Given the description of an element on the screen output the (x, y) to click on. 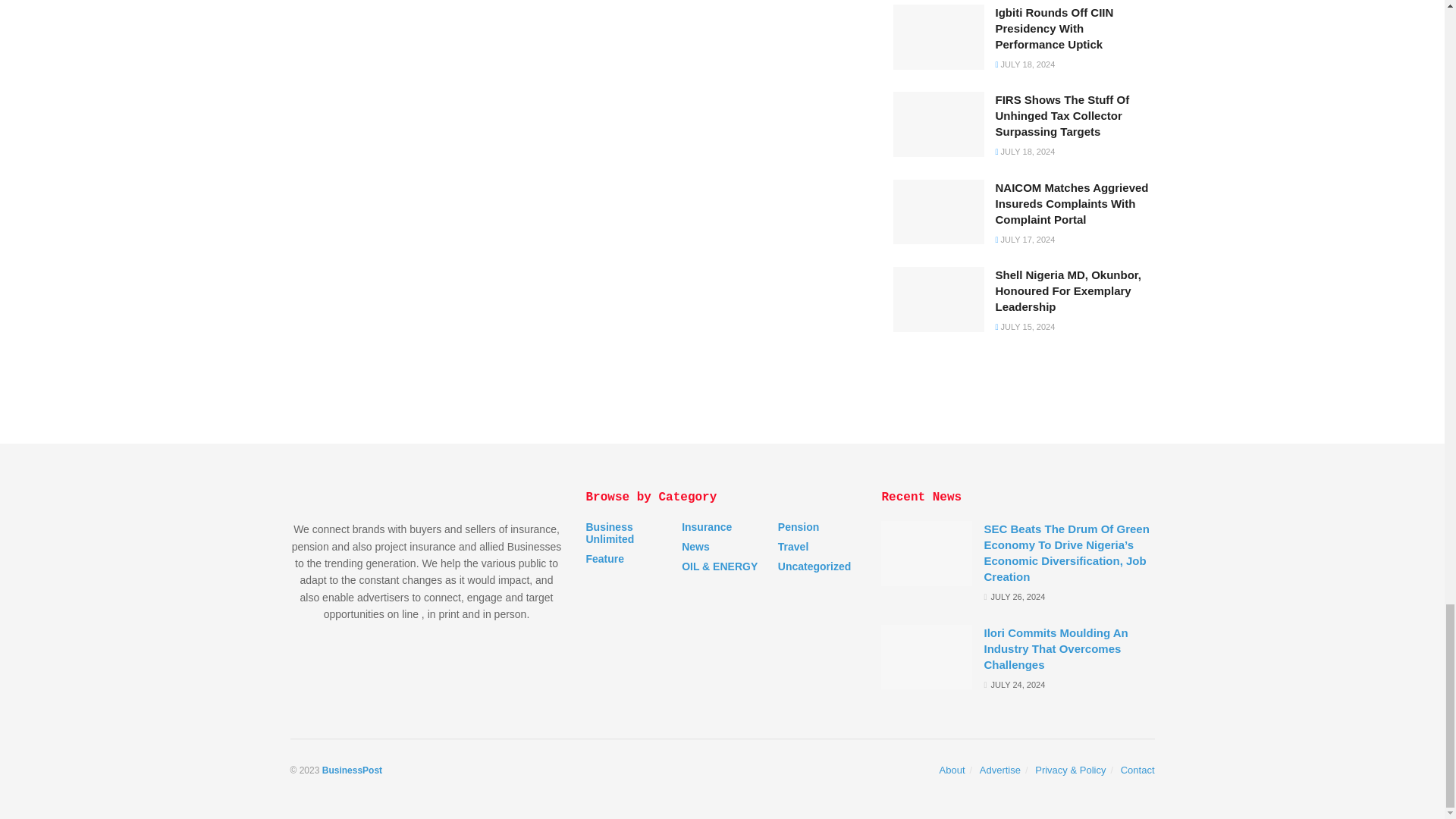
Business Post (351, 769)
